Given the description of an element on the screen output the (x, y) to click on. 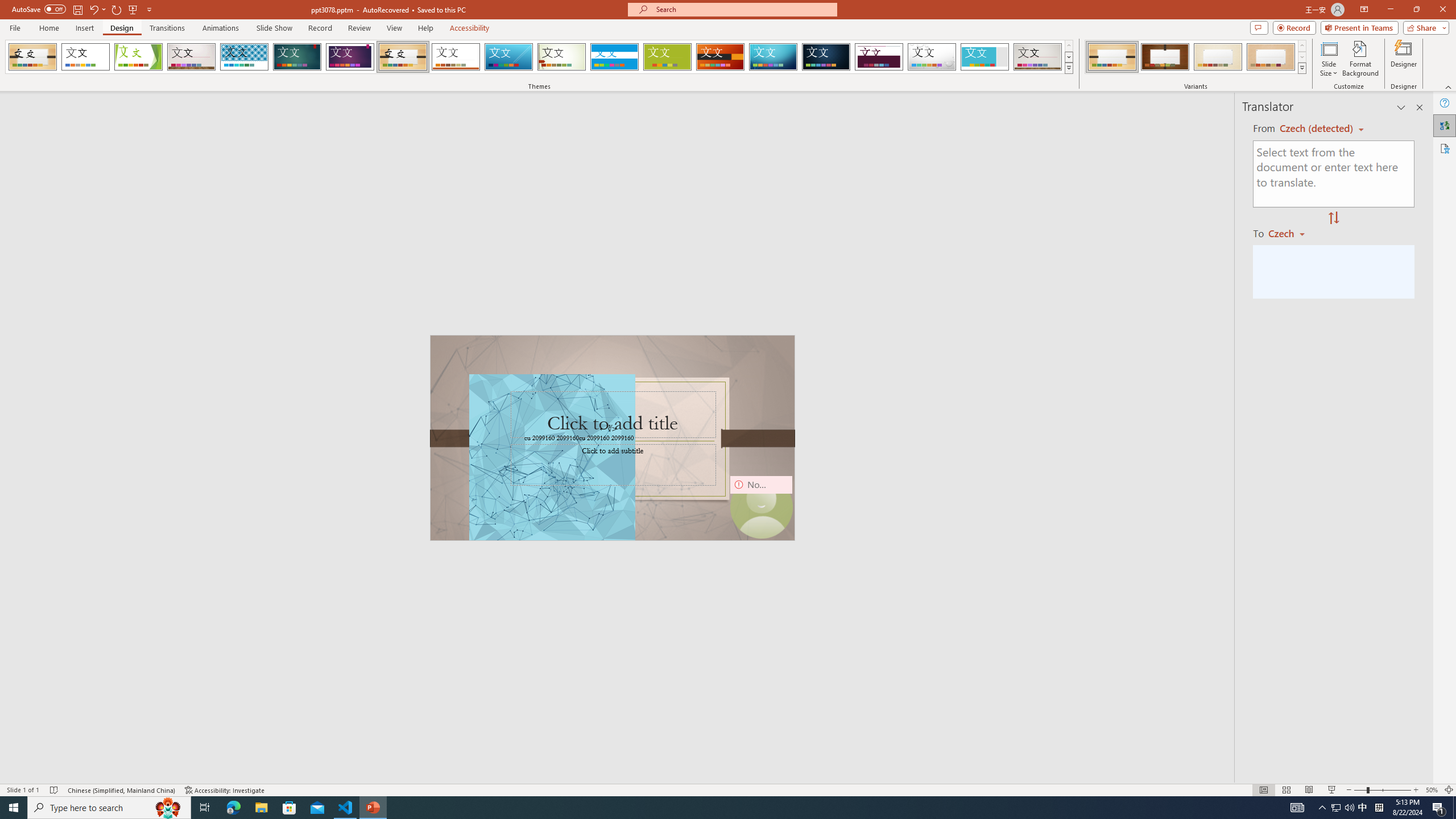
Frame (984, 56)
Czech (1291, 232)
Variants (1301, 67)
Organic Variant 1 (1112, 56)
